Given the description of an element on the screen output the (x, y) to click on. 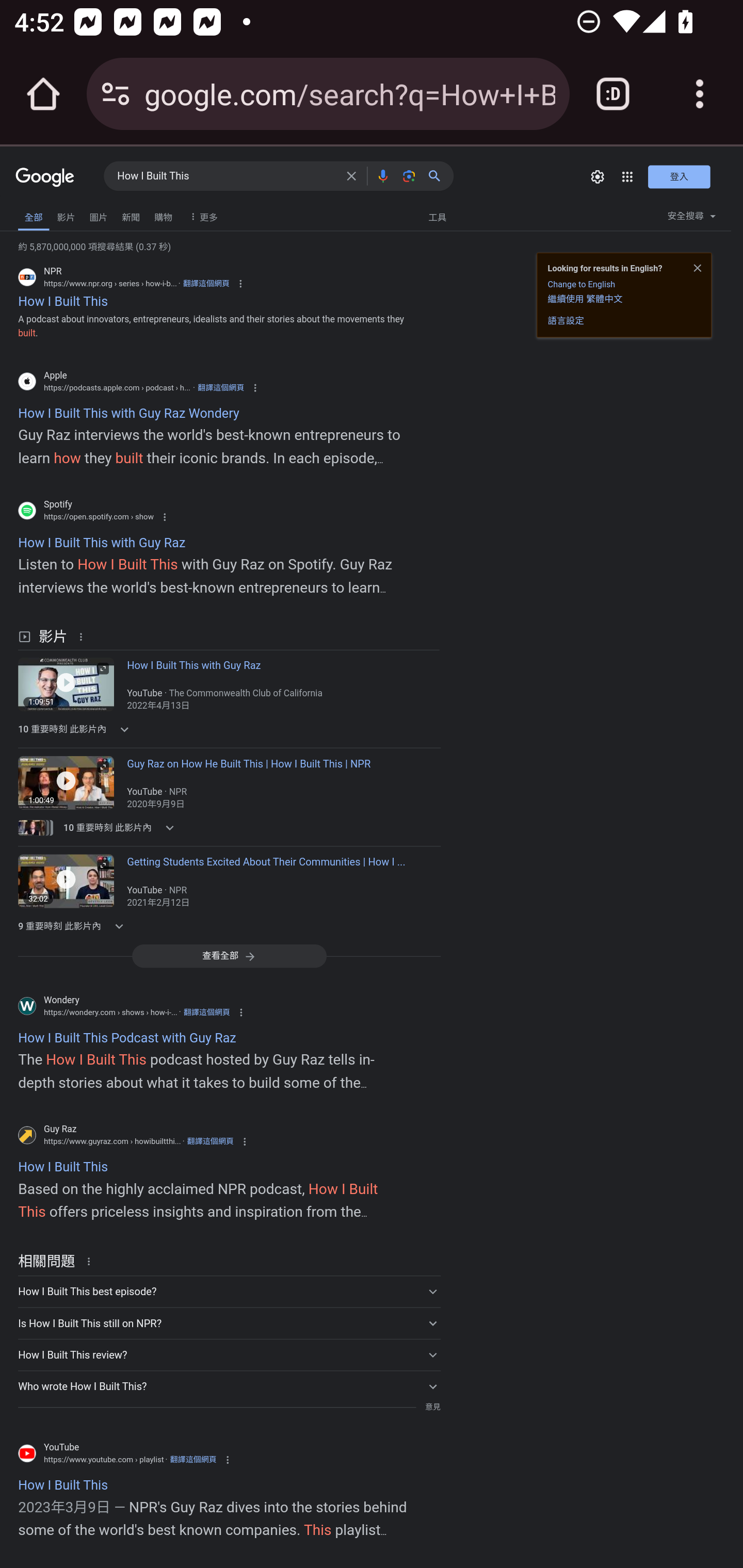
Open the home page (43, 93)
Connection is secure (115, 93)
Switch or close tabs (612, 93)
Customize and control Google Chrome (699, 93)
 清除 (351, 175)
語音搜尋 (382, 175)
以圖搜尋 (408, 175)
搜尋  (438, 175)
設定 (597, 176)
Google 應用程式 (626, 176)
登入 (678, 176)
Google (45, 178)
How I Built This (225, 176)
無障礙功能意見 (41, 212)
影片 (65, 215)
圖片 (98, 215)
新聞 (131, 215)
購物 (163, 215)
更多 (201, 215)
安全搜尋 (691, 218)
工具 (437, 215)
翻譯這個網頁 (205, 283)
Change to English (581, 283)
繼續使用 繁體中文 繼續使用  繁體中文 (584, 299)
語言設定 (565, 320)
翻譯這個網頁 (220, 387)
關於此結果 (83, 635)
10 重要時刻  此影片內 (121, 728)
10 重要時刻  此影片內 (121, 826)
9 重要時刻  此影片內 (121, 925)
查看全部 (229, 955)
翻譯這個網頁 (206, 1011)
翻譯這個網頁 (210, 1141)
關於此結果 (92, 1260)
How I Built This best episode? (228, 1290)
Is How I Built This still on NPR? (228, 1323)
How I Built This review? (228, 1354)
Who wrote How I Built This? (228, 1385)
意見 (432, 1406)
翻譯這個網頁 (192, 1459)
